Given the description of an element on the screen output the (x, y) to click on. 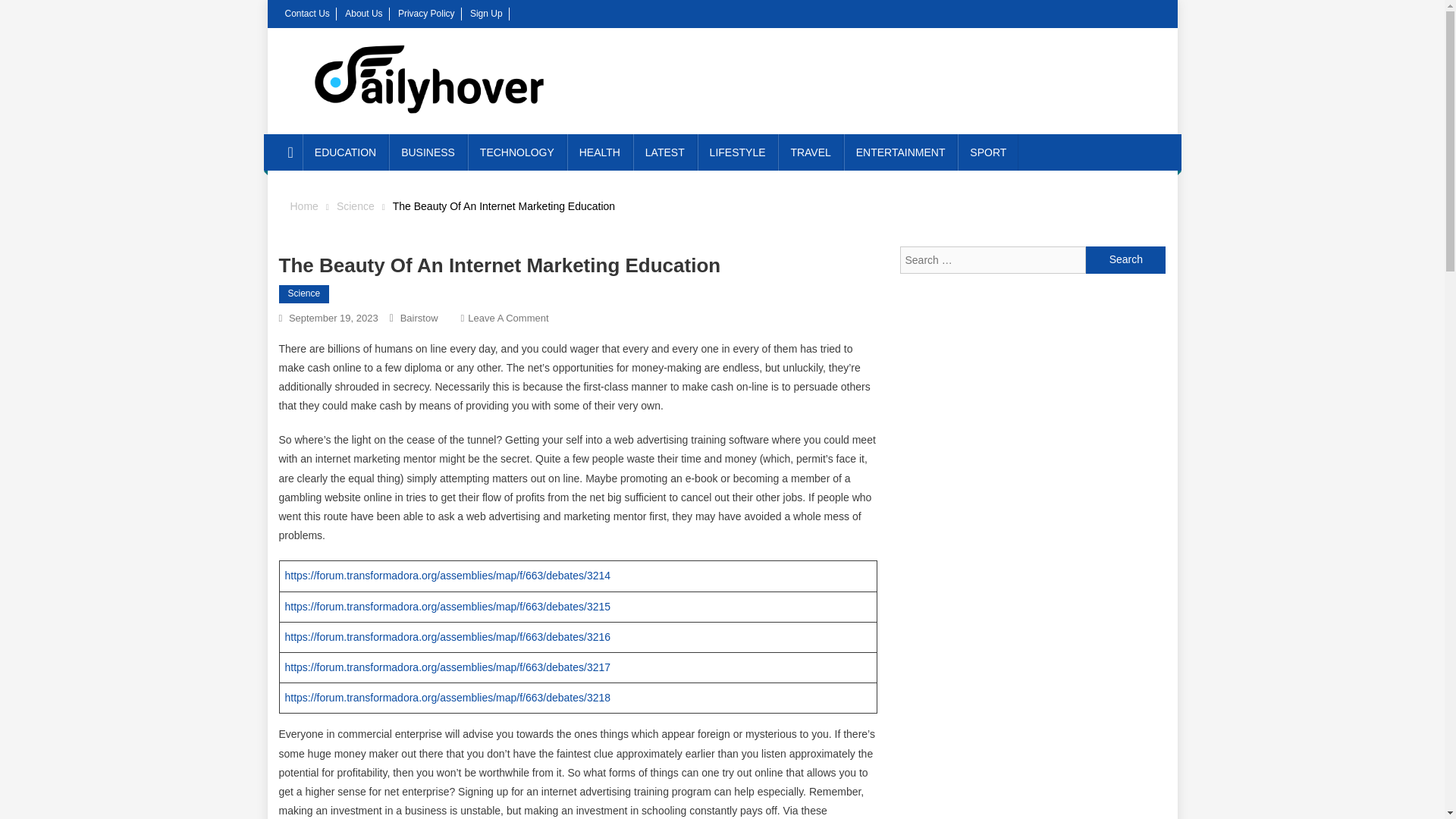
EDUCATION (345, 152)
Search (1126, 259)
Science (304, 294)
LIFESTYLE (737, 152)
Bairstow (419, 317)
Science (355, 205)
TECHNOLOGY (516, 152)
LATEST (665, 152)
Home (303, 205)
BUSINESS (427, 152)
Privacy Policy (425, 13)
TRAVEL (810, 152)
SPORT (987, 152)
HEALTH (599, 152)
Search (1126, 259)
